Given the description of an element on the screen output the (x, y) to click on. 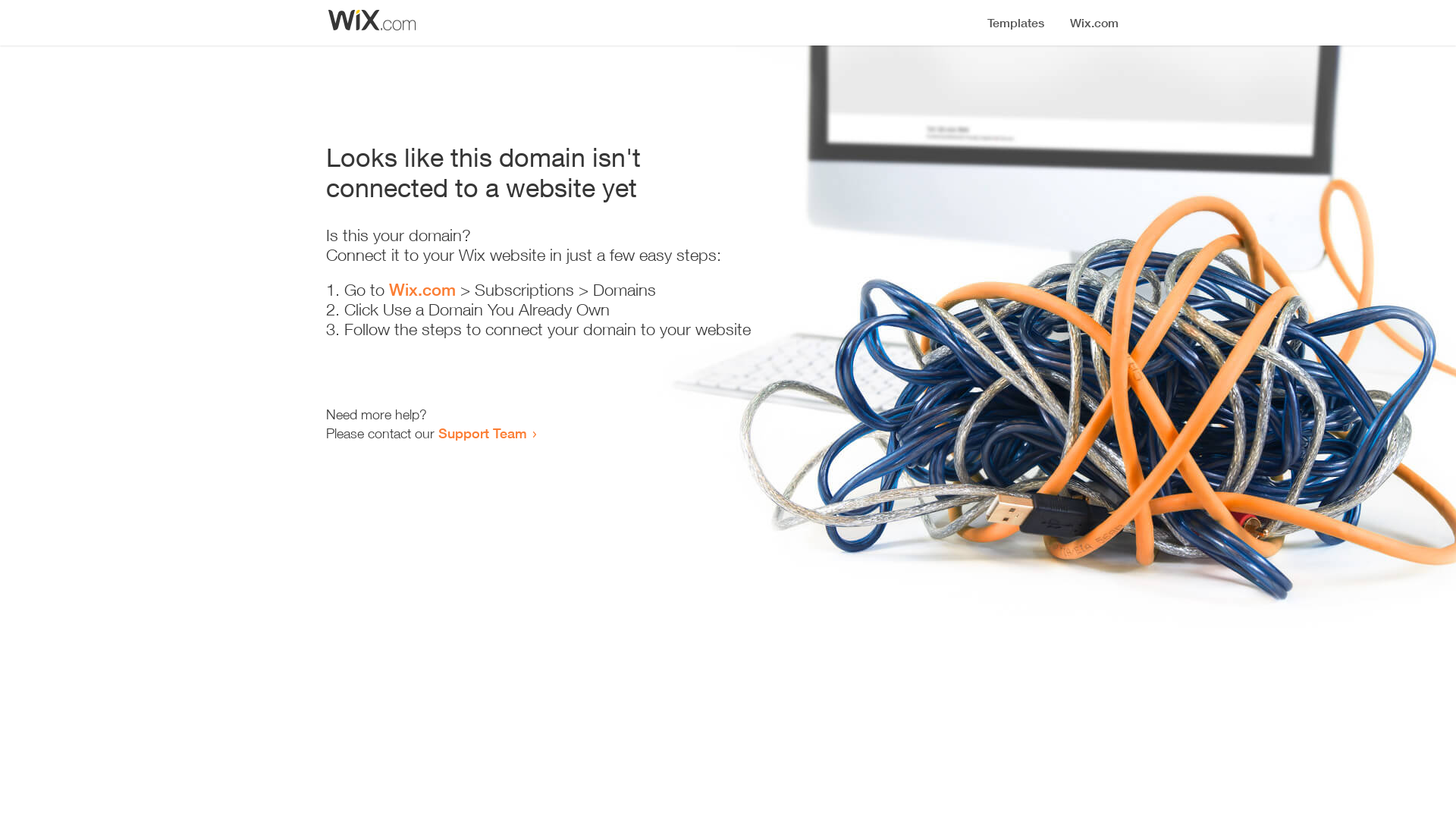
Wix.com Element type: text (422, 289)
Support Team Element type: text (482, 432)
